Given the description of an element on the screen output the (x, y) to click on. 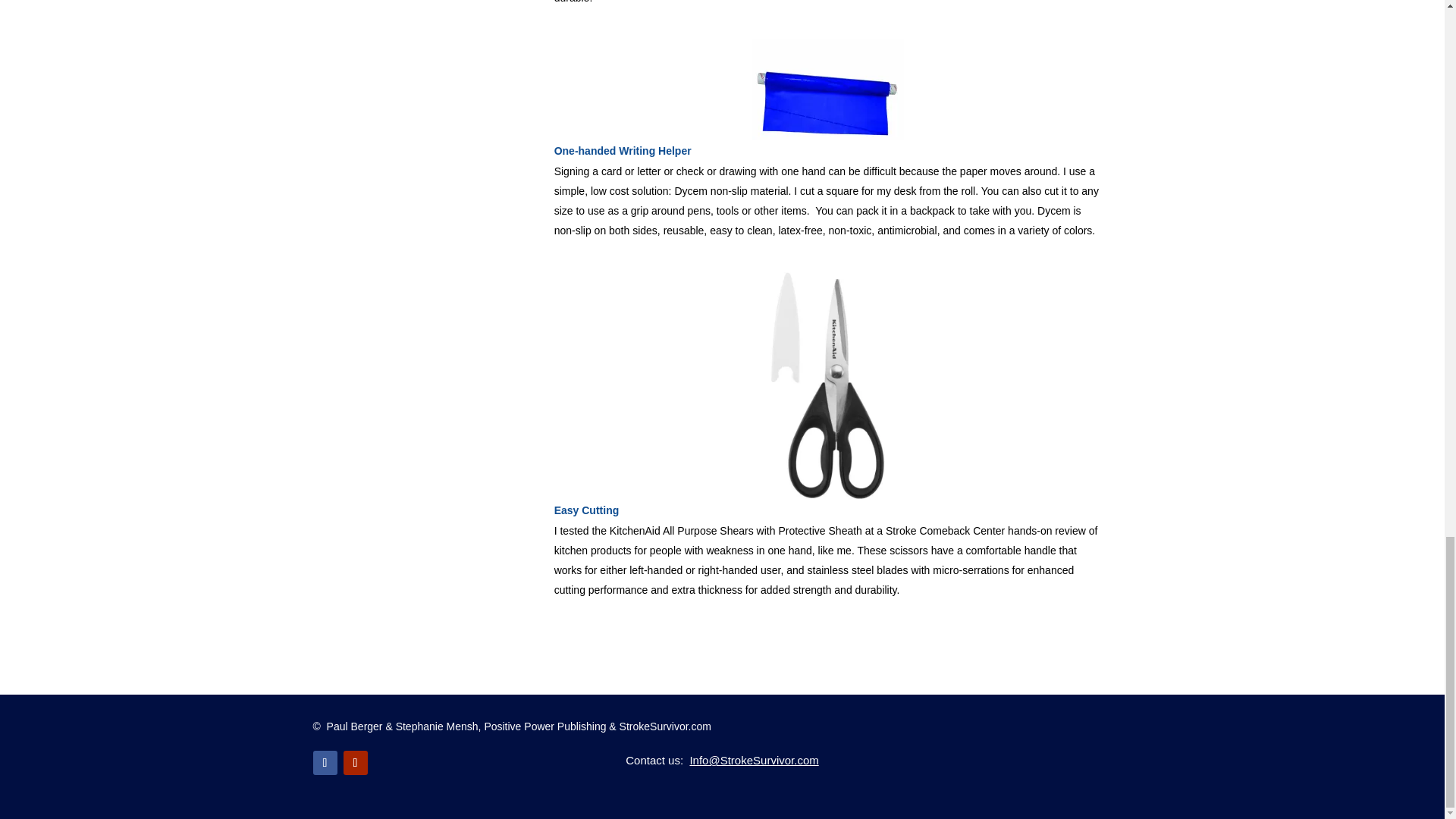
Follow on Youtube (354, 762)
Follow on Facebook (324, 762)
